Given the description of an element on the screen output the (x, y) to click on. 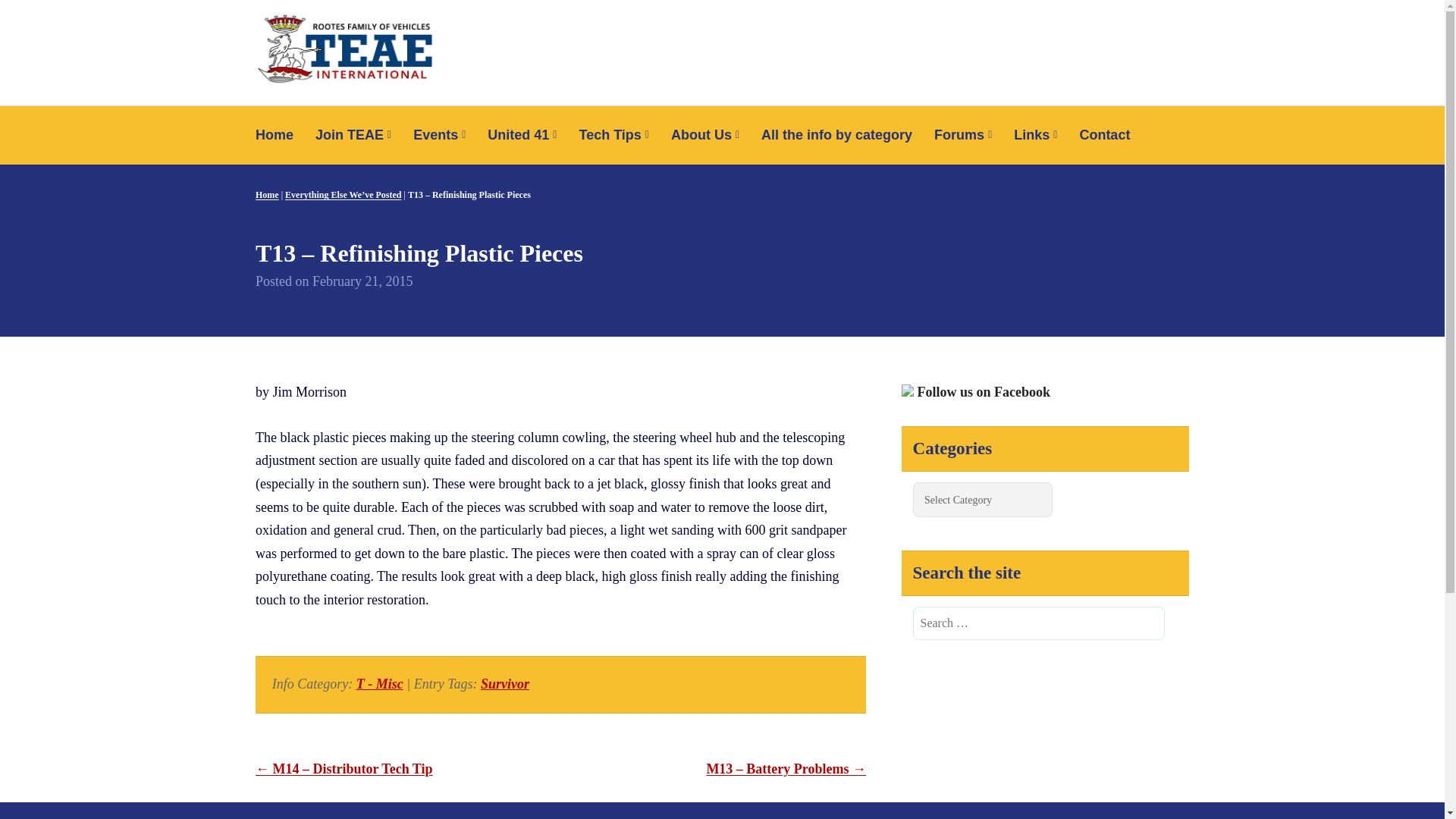
Join TEAE (353, 135)
Events (440, 135)
About Us (704, 135)
TigersEast AlpinesEast (376, 26)
United 41 (522, 135)
Most Recent (963, 135)
Home (280, 135)
Tech Tips (613, 135)
